Given the description of an element on the screen output the (x, y) to click on. 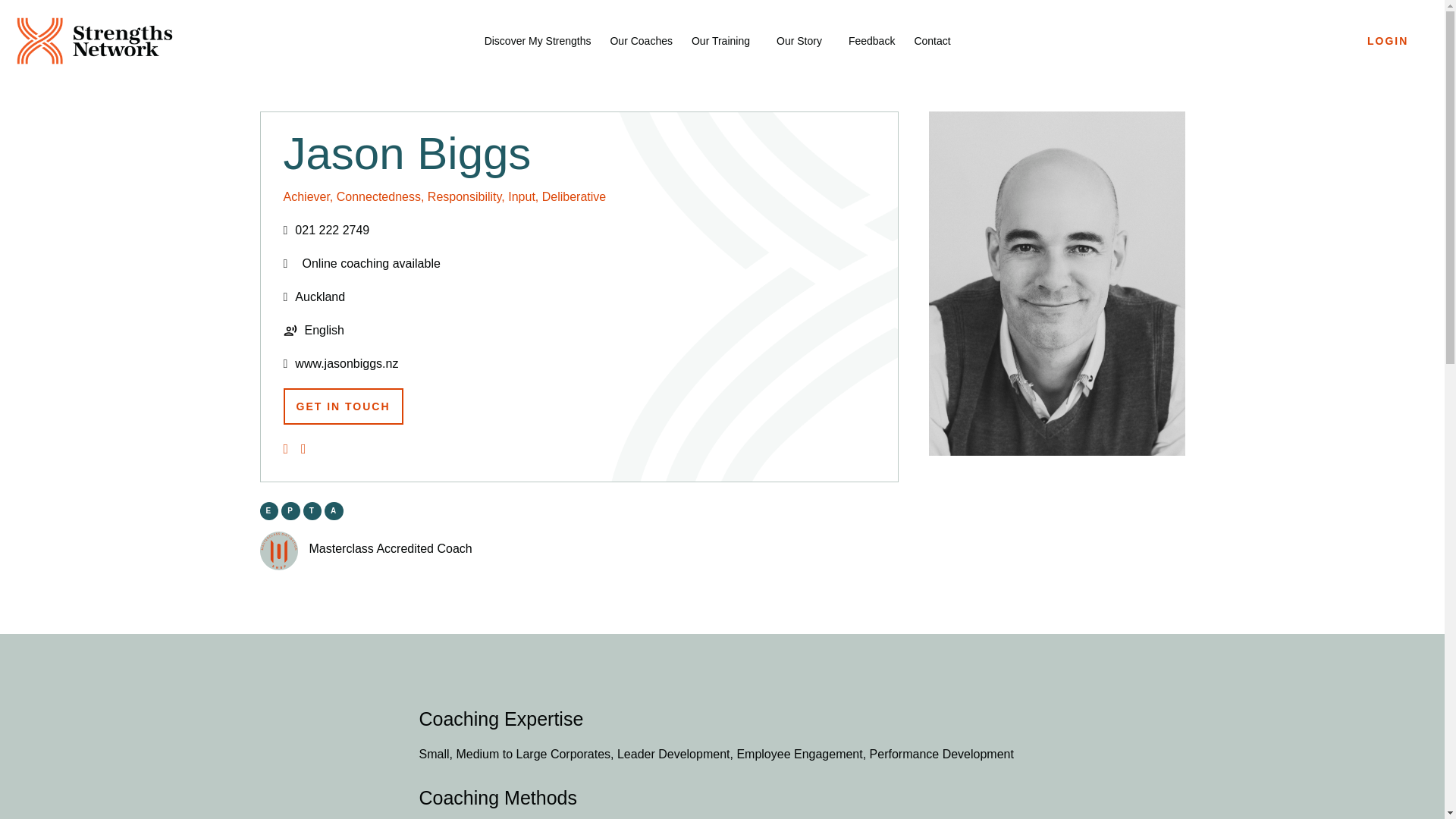
E (268, 511)
Our Training (724, 40)
LOGIN (1387, 40)
T (311, 511)
Discover My Strengths (537, 40)
P (290, 511)
Our Story (802, 40)
A (333, 511)
GET IN TOUCH (343, 406)
Our Coaches (640, 40)
Feedback (871, 40)
Contact (932, 40)
